Given the description of an element on the screen output the (x, y) to click on. 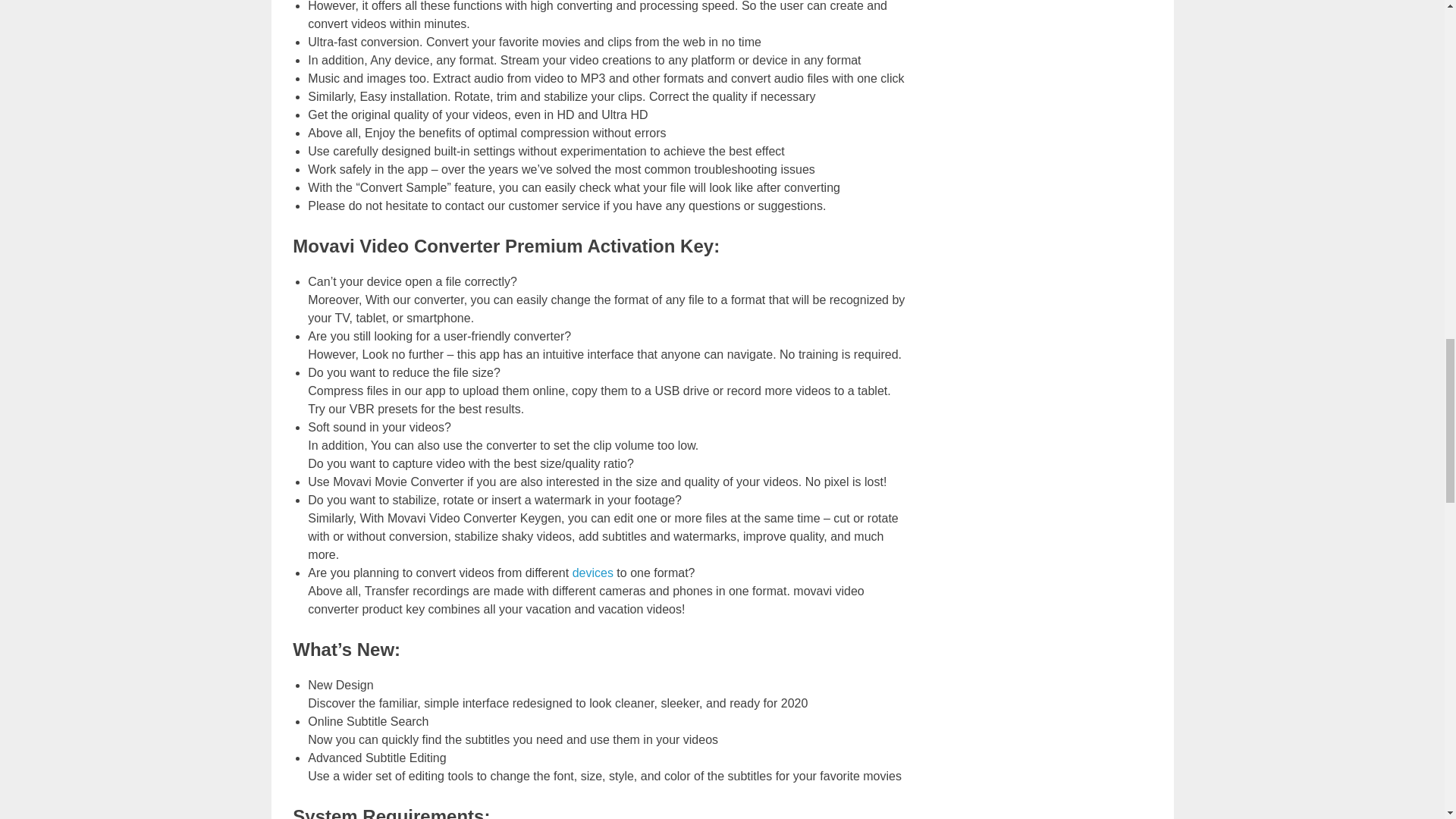
devices (592, 572)
